Given the description of an element on the screen output the (x, y) to click on. 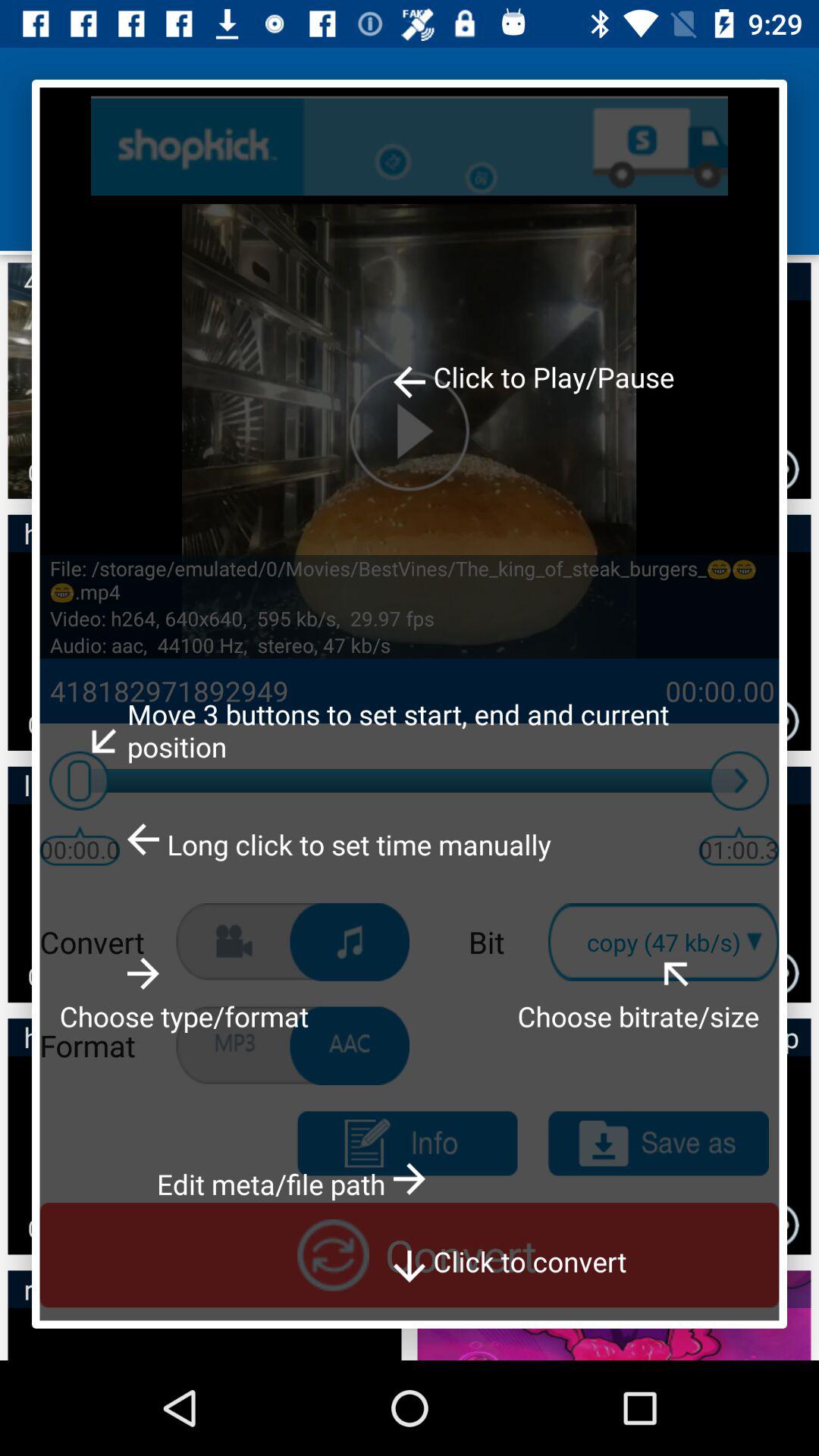
shopkick icon (409, 145)
